Given the description of an element on the screen output the (x, y) to click on. 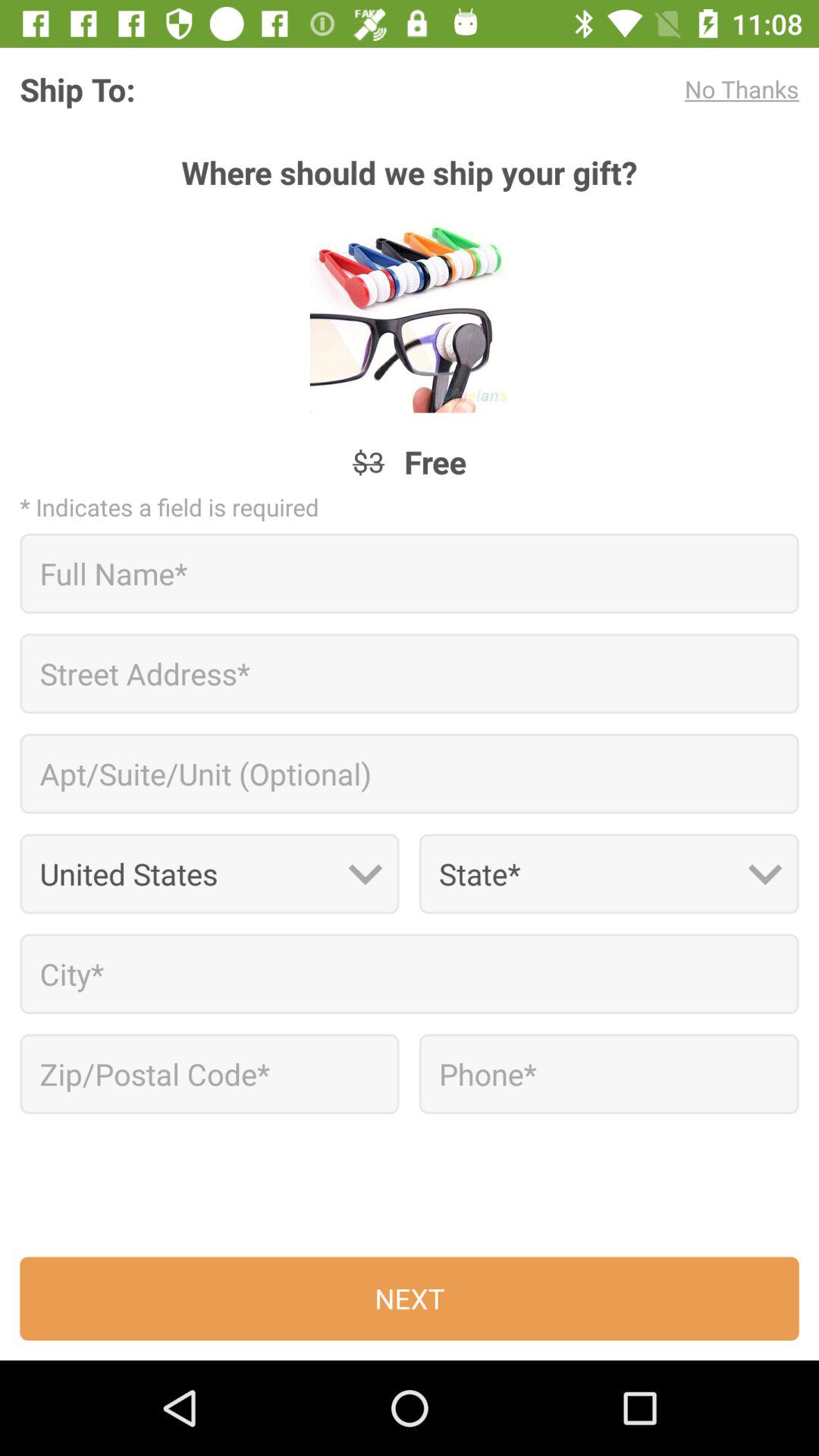
write city (409, 973)
